Given the description of an element on the screen output the (x, y) to click on. 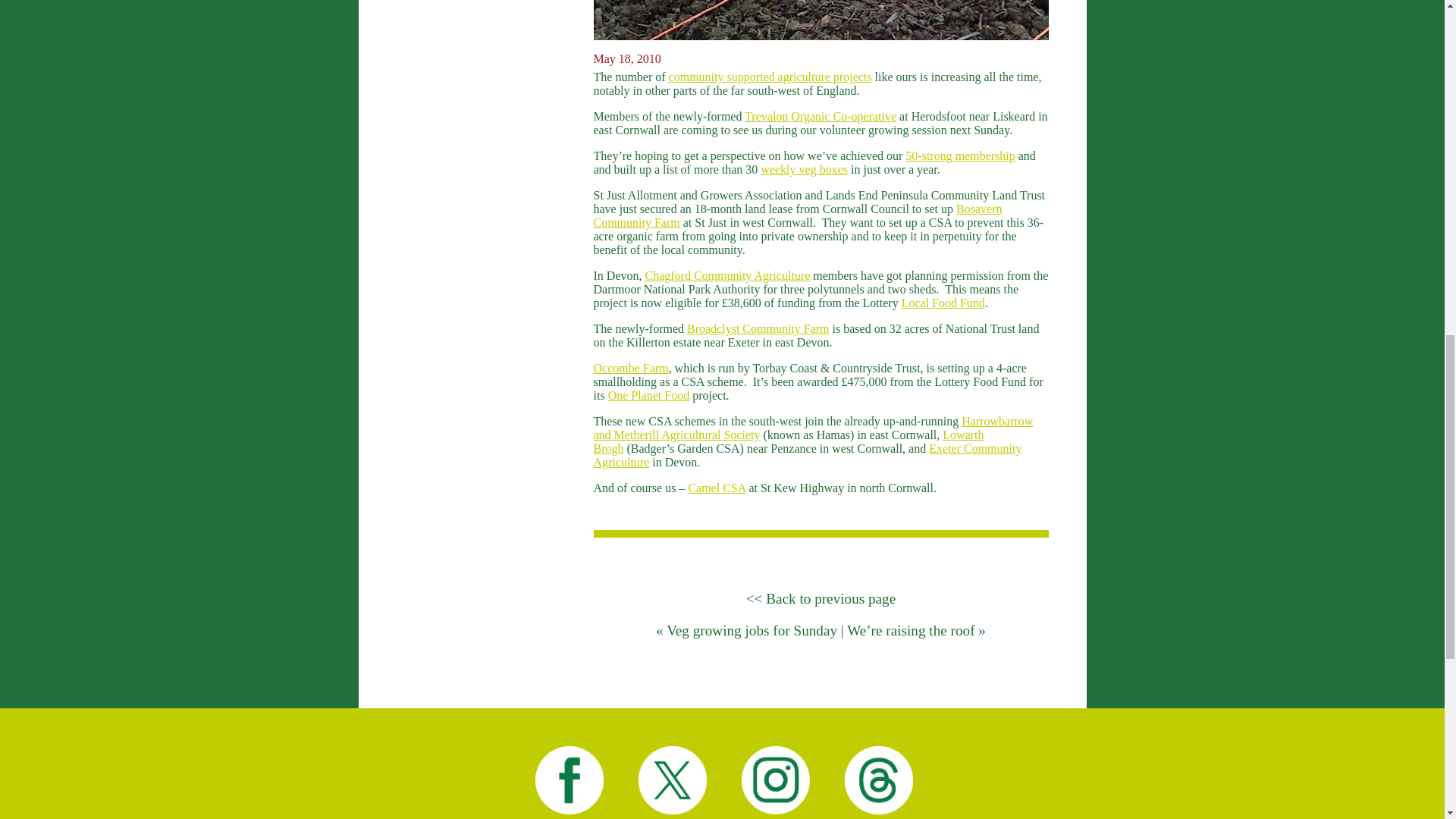
Broadclyst Community Farm (758, 328)
Lowarth Brogh (788, 441)
Camel CSA (716, 487)
50-strong membership (959, 155)
Bosavern Community Farm (796, 215)
Exeter Community Agriculture (807, 455)
Harrowbarrow and Metherill Agricultural Society (812, 427)
One Planet Food (649, 395)
Trevalon Organic Co-operative (820, 115)
Veg growing jobs for Sunday (751, 630)
weekly veg boxes (803, 169)
Occombe Farm (630, 367)
Chagford Community Agriculture (727, 275)
community supported agriculture projects (770, 76)
Local Food Fund (943, 302)
